Given the description of an element on the screen output the (x, y) to click on. 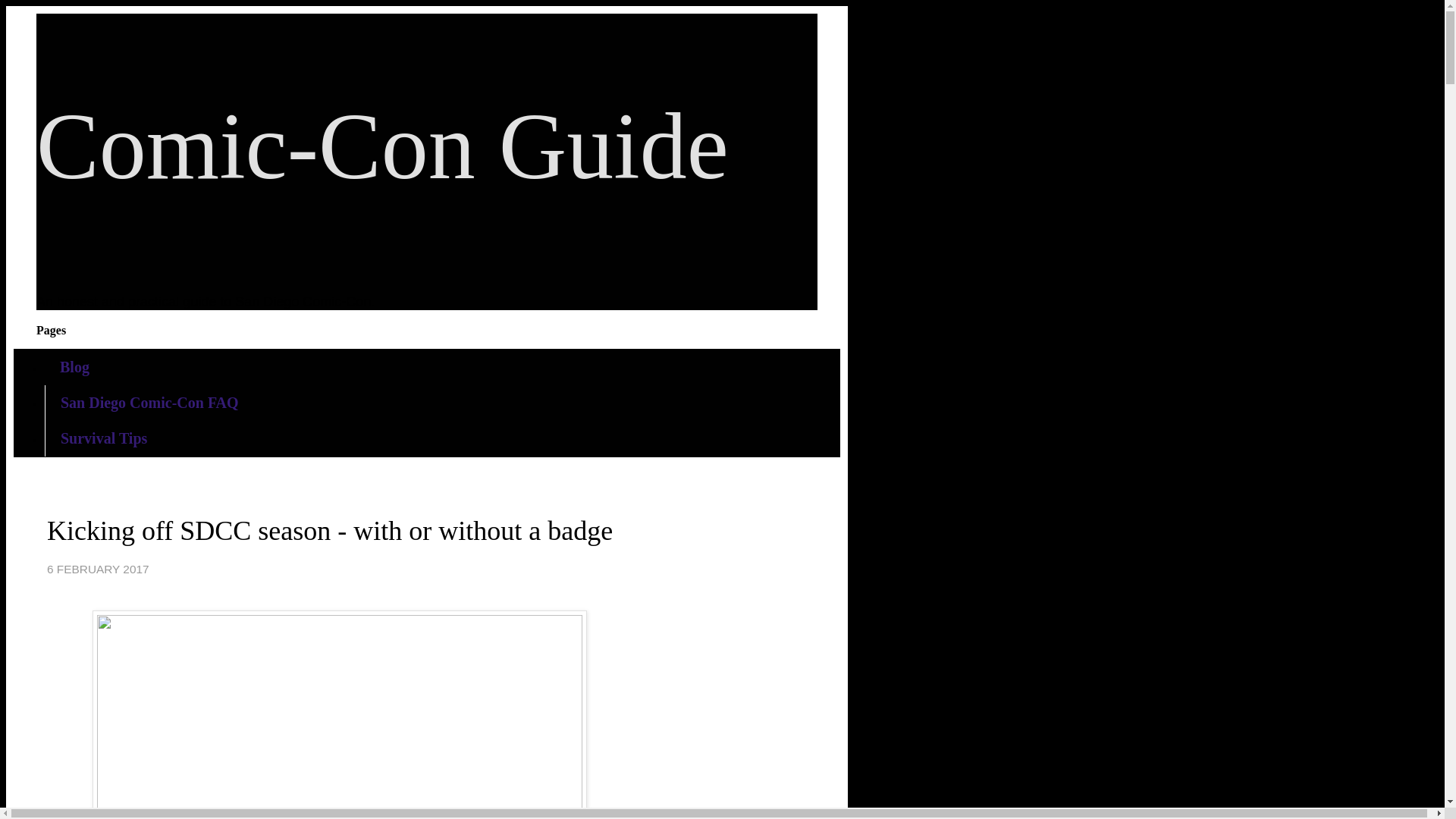
Comic-Con Guide (382, 147)
Blog (74, 366)
San Diego Comic-Con FAQ (149, 402)
Survival Tips (104, 438)
